Given the description of an element on the screen output the (x, y) to click on. 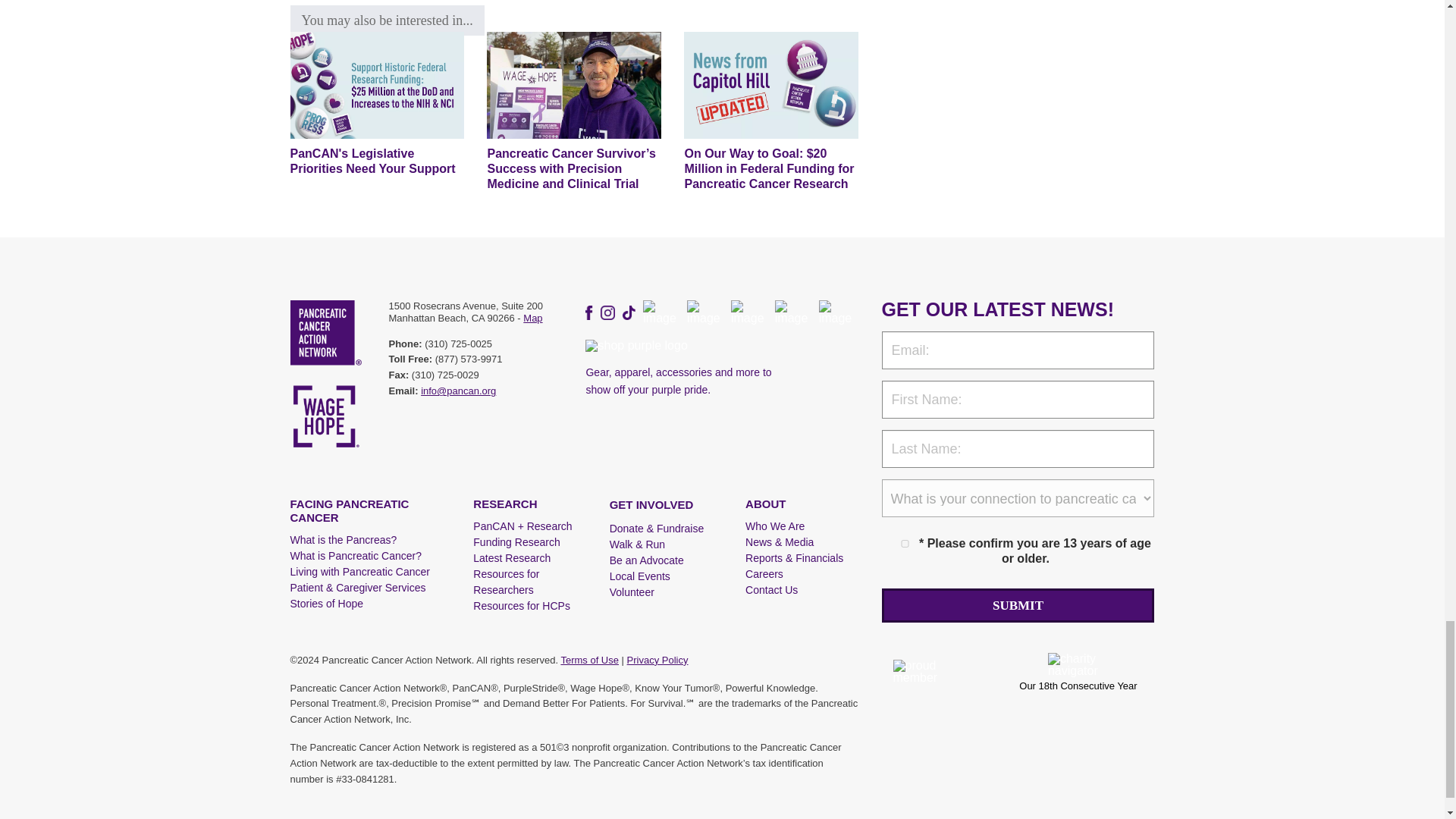
Yes (904, 543)
Follow us on Threads (661, 312)
Follow us on Instagram (606, 312)
PanCAN's Legislative Priorities Need Your Support (376, 84)
Follow us on Twitter (705, 312)
Follow us on LinkedIn (748, 312)
Follow us on TikTok (628, 312)
